Given the description of an element on the screen output the (x, y) to click on. 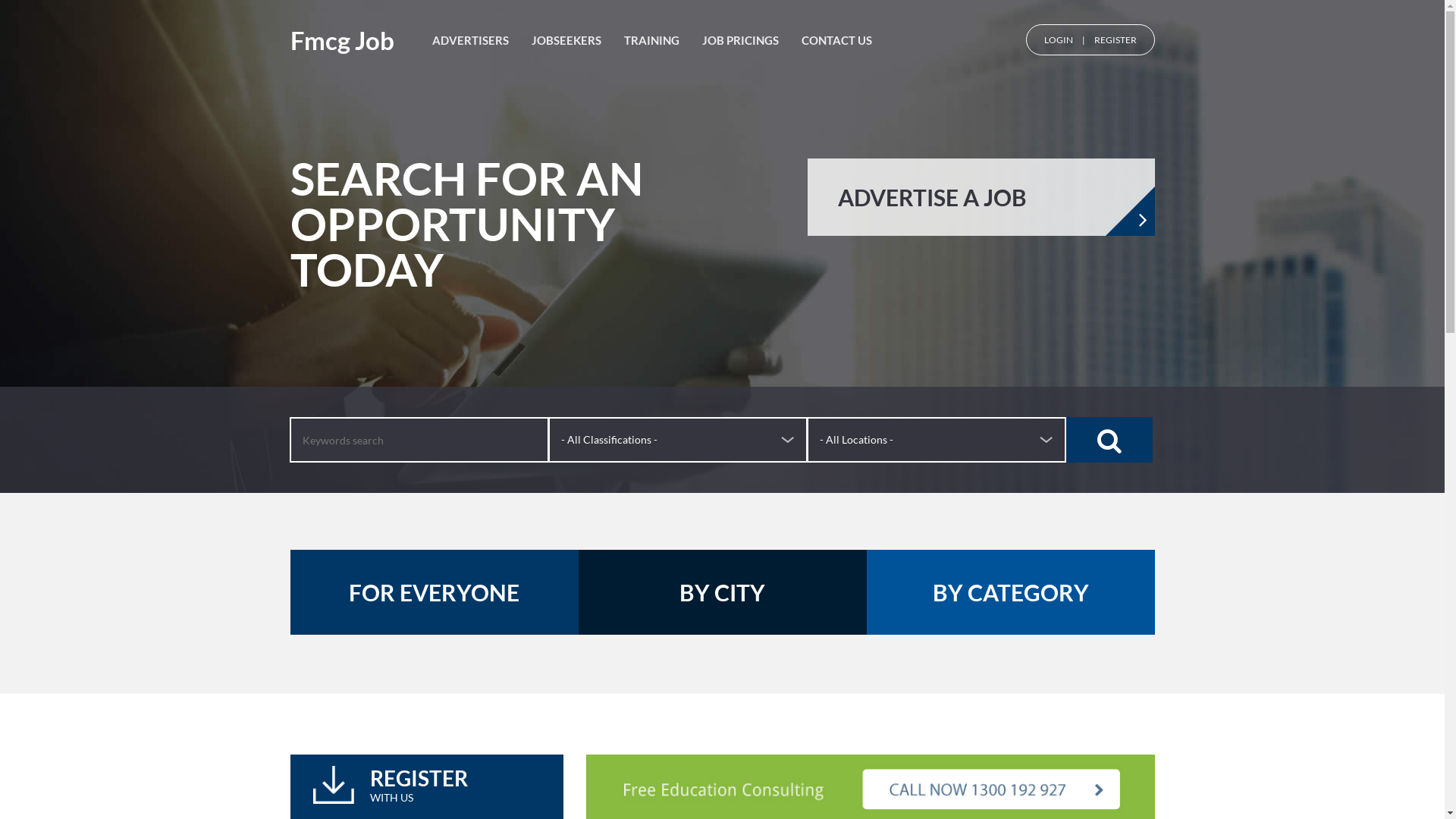
TRAINING Element type: text (650, 40)
ADVERTISE A JOB Element type: text (980, 196)
JOB PRICINGS Element type: text (740, 40)
BY CITY Element type: text (721, 591)
FOR EVERYONE Element type: text (433, 591)
Search Element type: hover (1109, 439)
LOGIN Element type: text (1057, 39)
BY CATEGORY Element type: text (1010, 591)
JOBSEEKERS Element type: text (565, 40)
Fmcg Job Element type: text (341, 40)
CONTACT US Element type: text (835, 40)
ADVERTISERS Element type: text (470, 40)
REGISTER Element type: text (1114, 39)
